Given the description of an element on the screen output the (x, y) to click on. 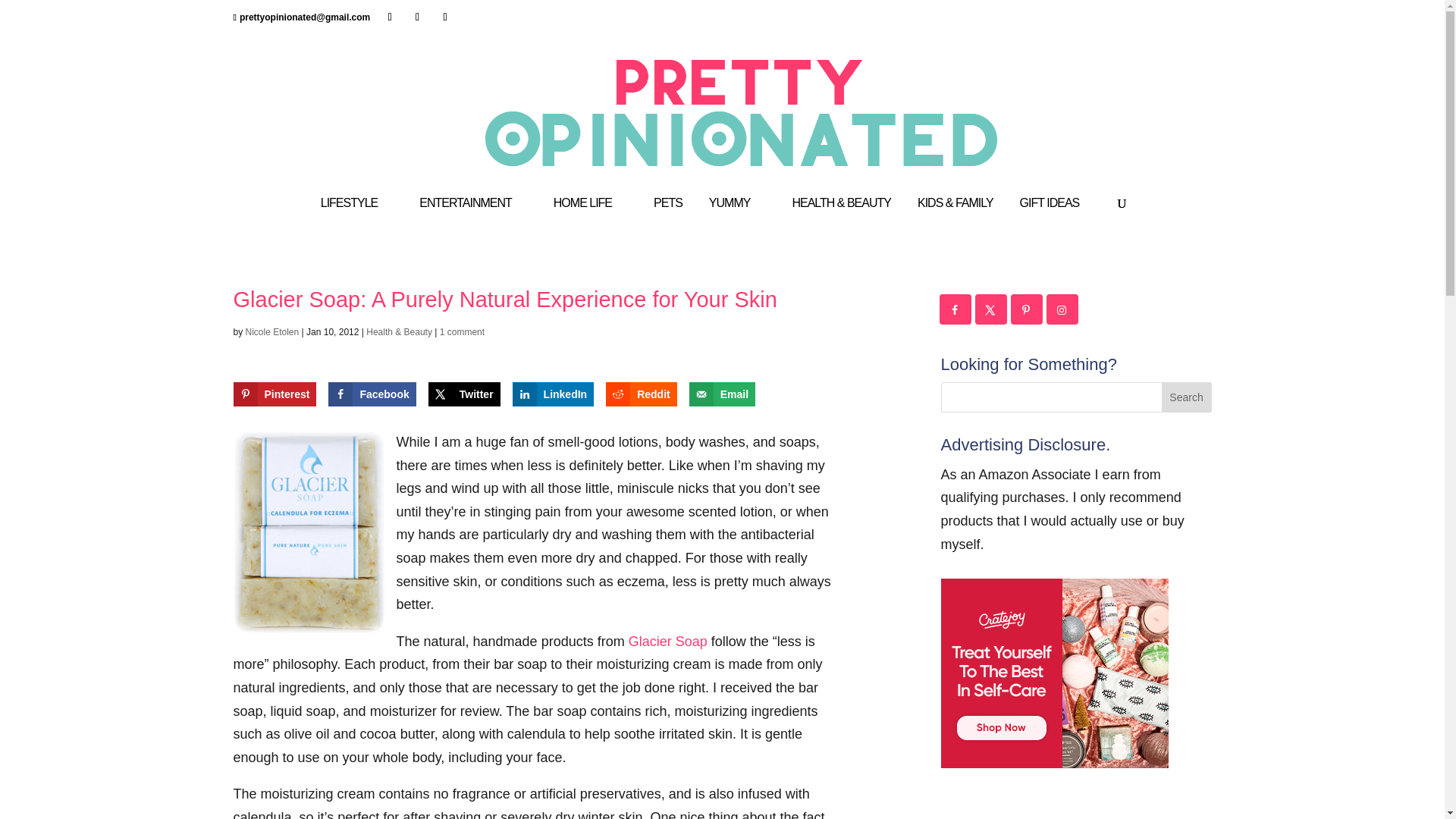
PETS (667, 217)
YUMMY (737, 217)
Share on Facebook (371, 394)
Share on LinkedIn (553, 394)
HOME LIFE (590, 217)
Posts by Nicole Etolen (272, 331)
ENTERTAINMENT (473, 217)
GIFT IDEAS (1057, 217)
calendula (308, 531)
Send over email (721, 394)
LIFESTYLE (356, 217)
Share on Reddit (641, 394)
Save to Pinterest (274, 394)
Share on X (464, 394)
Follow on Facebook (955, 309)
